Given the description of an element on the screen output the (x, y) to click on. 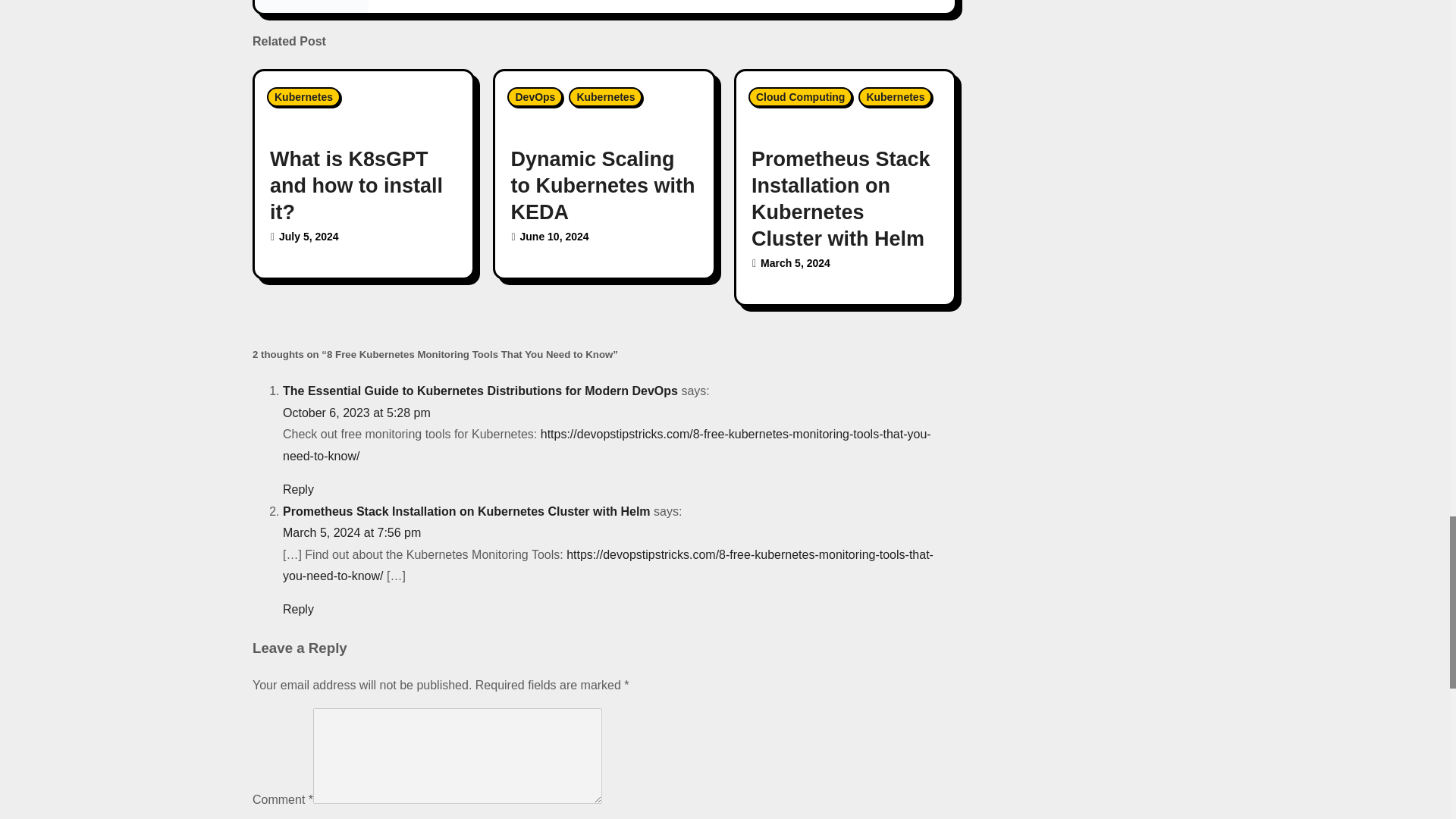
Permalink to: What is K8sGPT and how to install it? (355, 185)
Permalink to: Dynamic Scaling to Kubernetes with KEDA (602, 185)
